Given the description of an element on the screen output the (x, y) to click on. 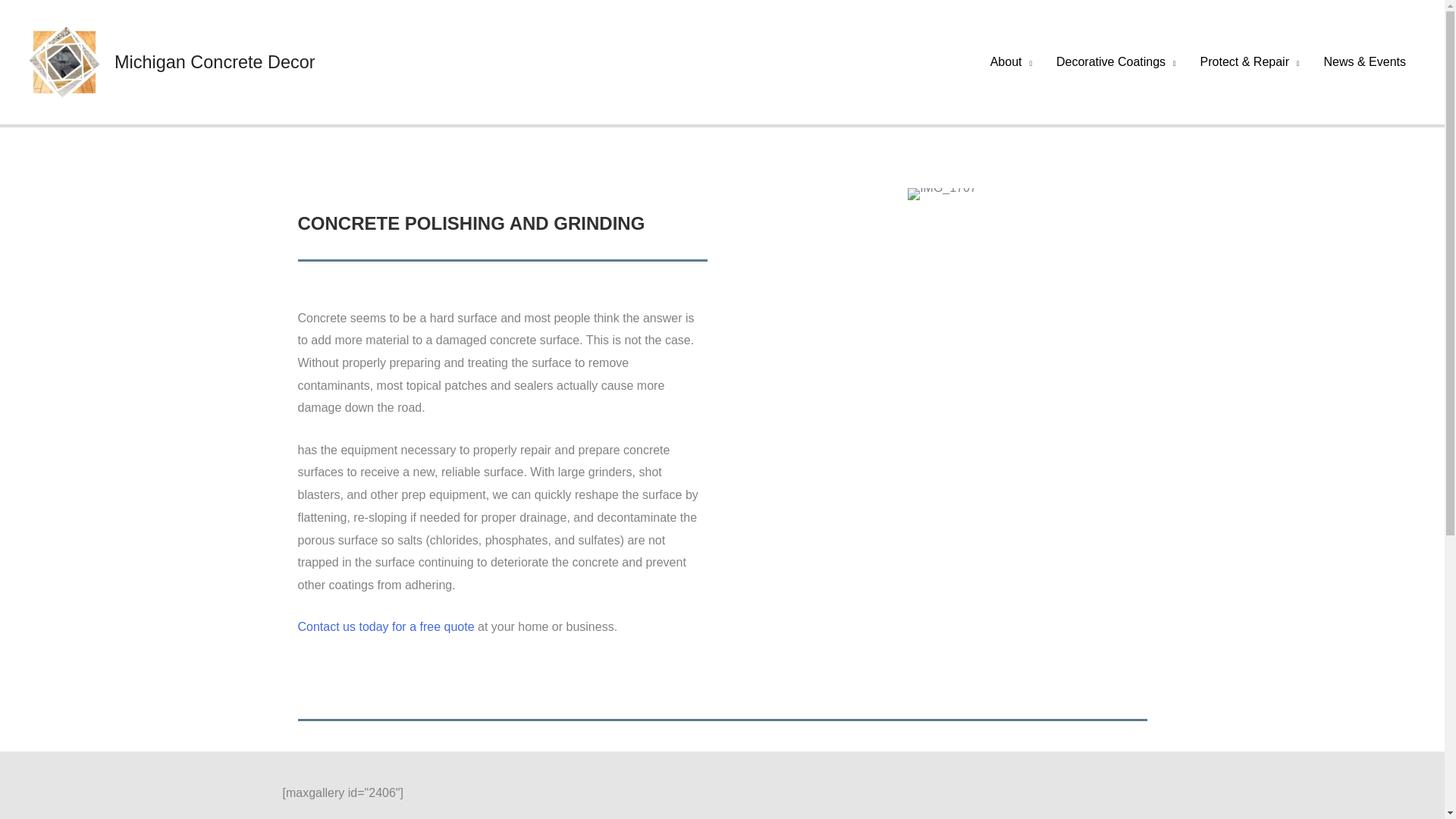
Contact us today for a free quote (385, 626)
Decorative Coatings (1115, 61)
About (1010, 61)
Michigan Concrete Decor (215, 62)
